Given the description of an element on the screen output the (x, y) to click on. 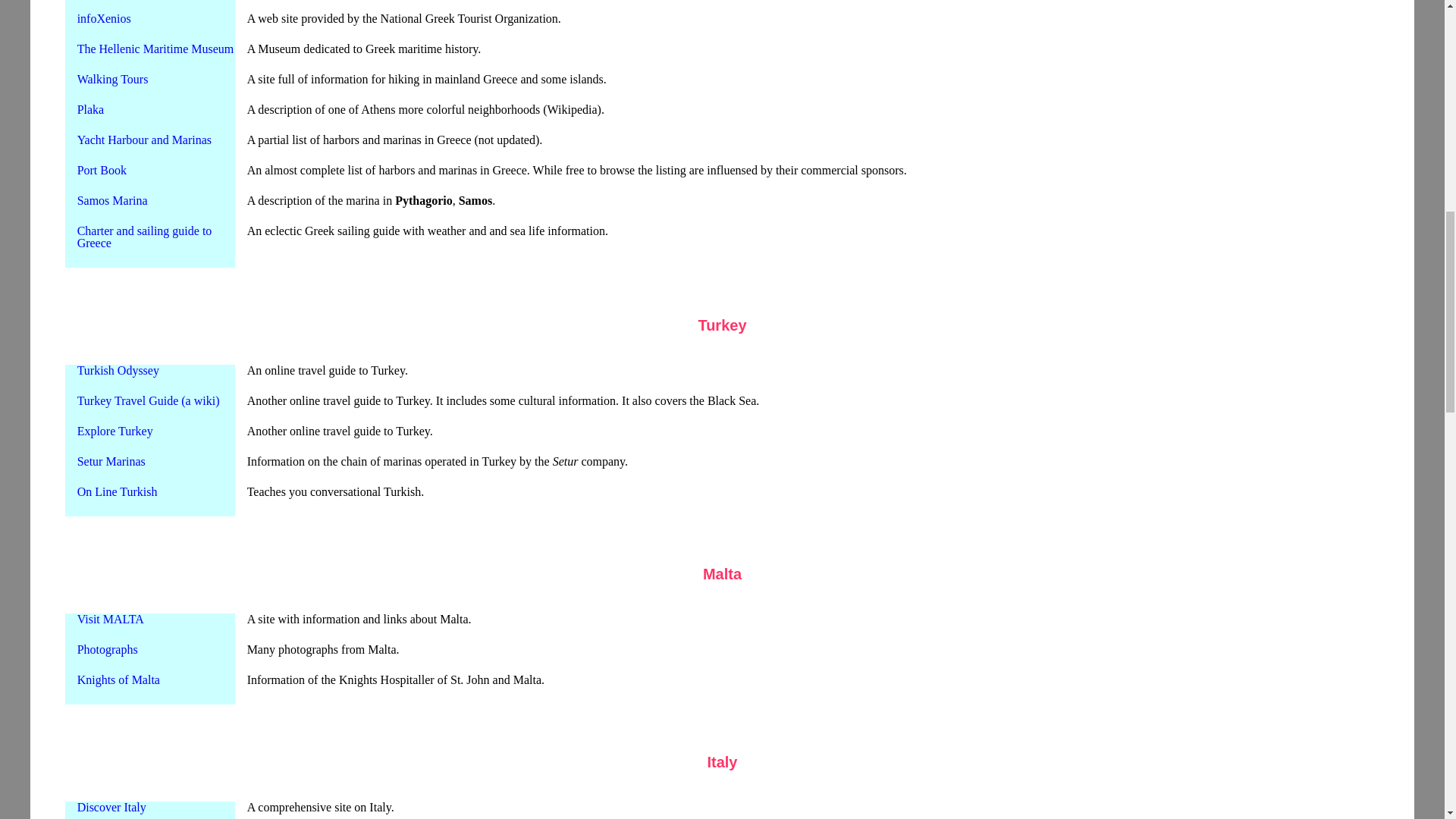
infoXenios (104, 18)
Photographs (107, 649)
Turkish Odyssey (117, 369)
Plaka (90, 109)
Discover Italy (112, 807)
Walking Tours (112, 78)
Port Book (101, 169)
The Hellenic Maritime Museum (155, 48)
Charter and sailing guide to Greece (144, 236)
Setur Marinas (111, 461)
